Given the description of an element on the screen output the (x, y) to click on. 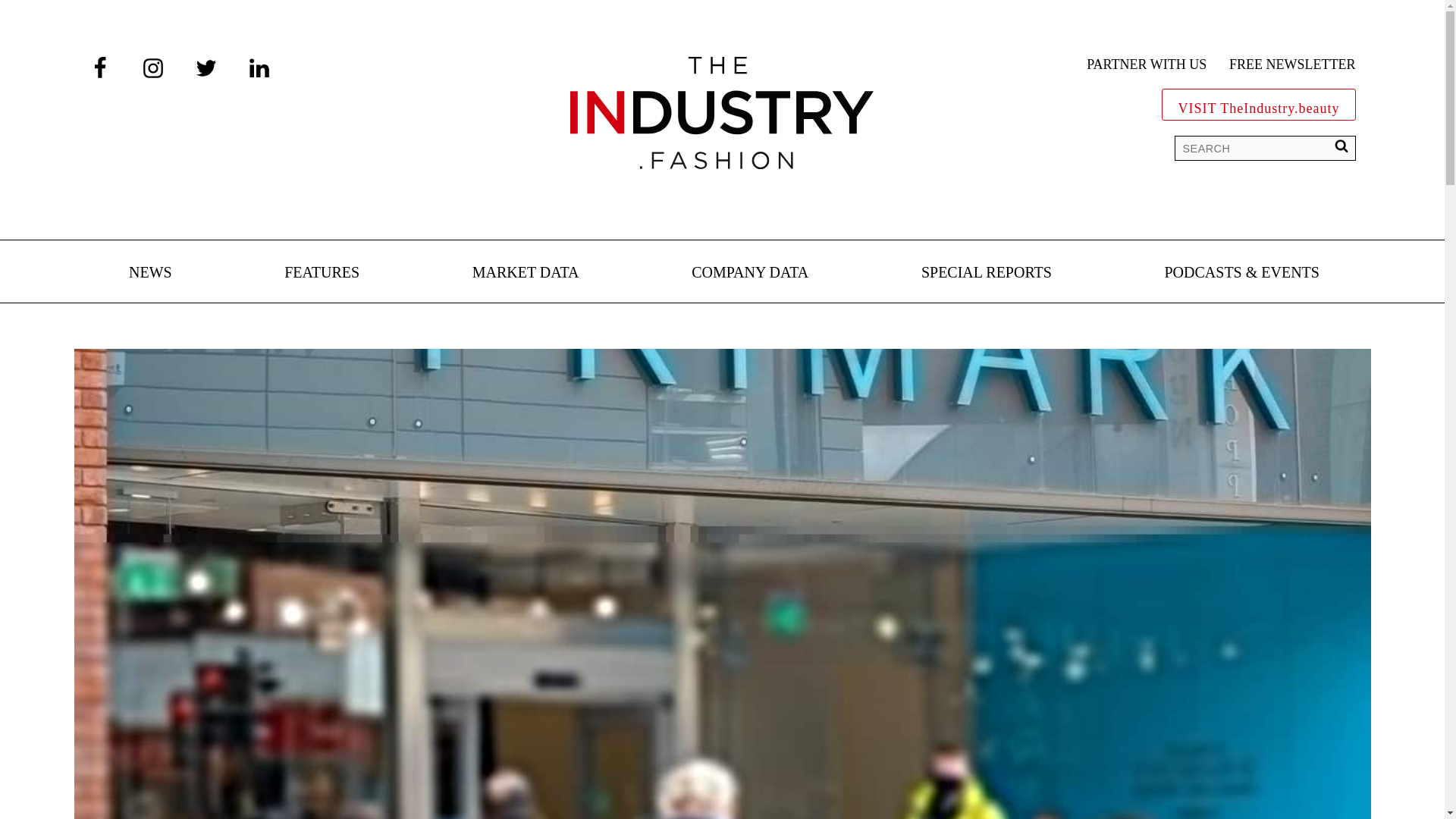
SPECIAL REPORTS (986, 273)
FREE NEWSLETTER (1291, 64)
NEWS (150, 273)
VISIT TheIndustry.beauty (1258, 104)
COMPANY DATA (749, 273)
MARKET DATA (525, 273)
PARTNER WITH US (1146, 64)
Go (22, 15)
FEATURES (321, 273)
